Given the description of an element on the screen output the (x, y) to click on. 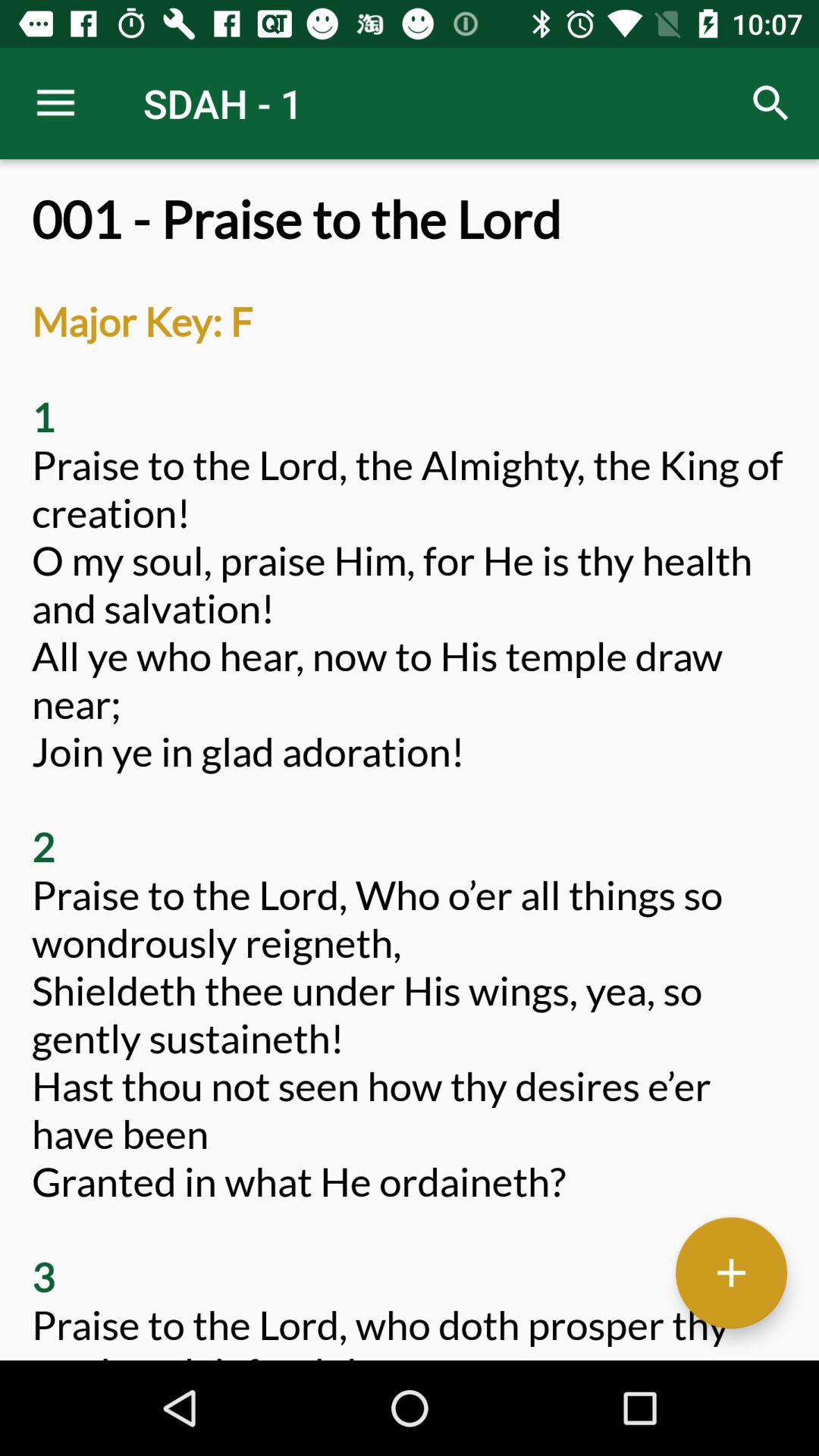
turn off the 001 praise to at the center (409, 775)
